Given the description of an element on the screen output the (x, y) to click on. 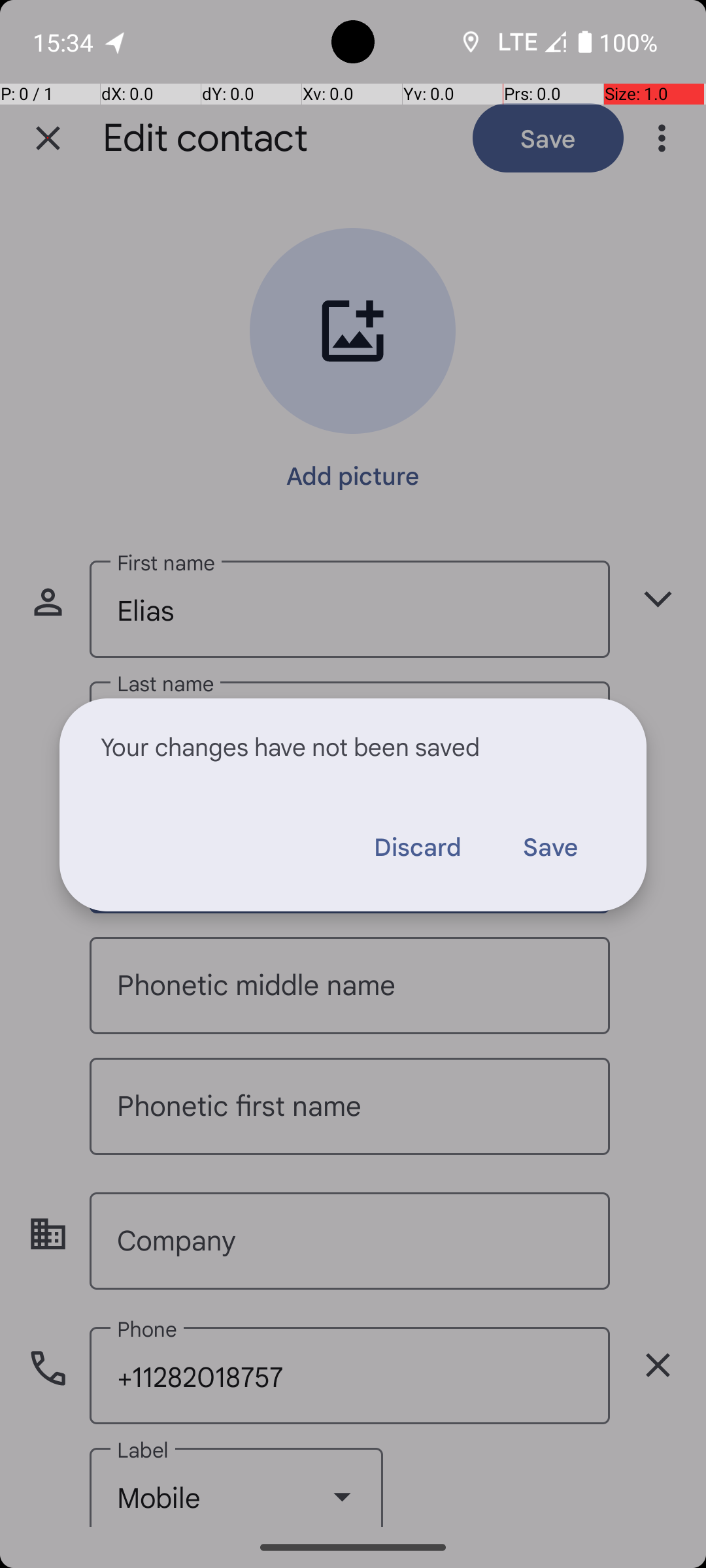
Your changes have not been saved Element type: android.widget.TextView (352, 746)
Discard Element type: android.widget.Button (416, 845)
